Given the description of an element on the screen output the (x, y) to click on. 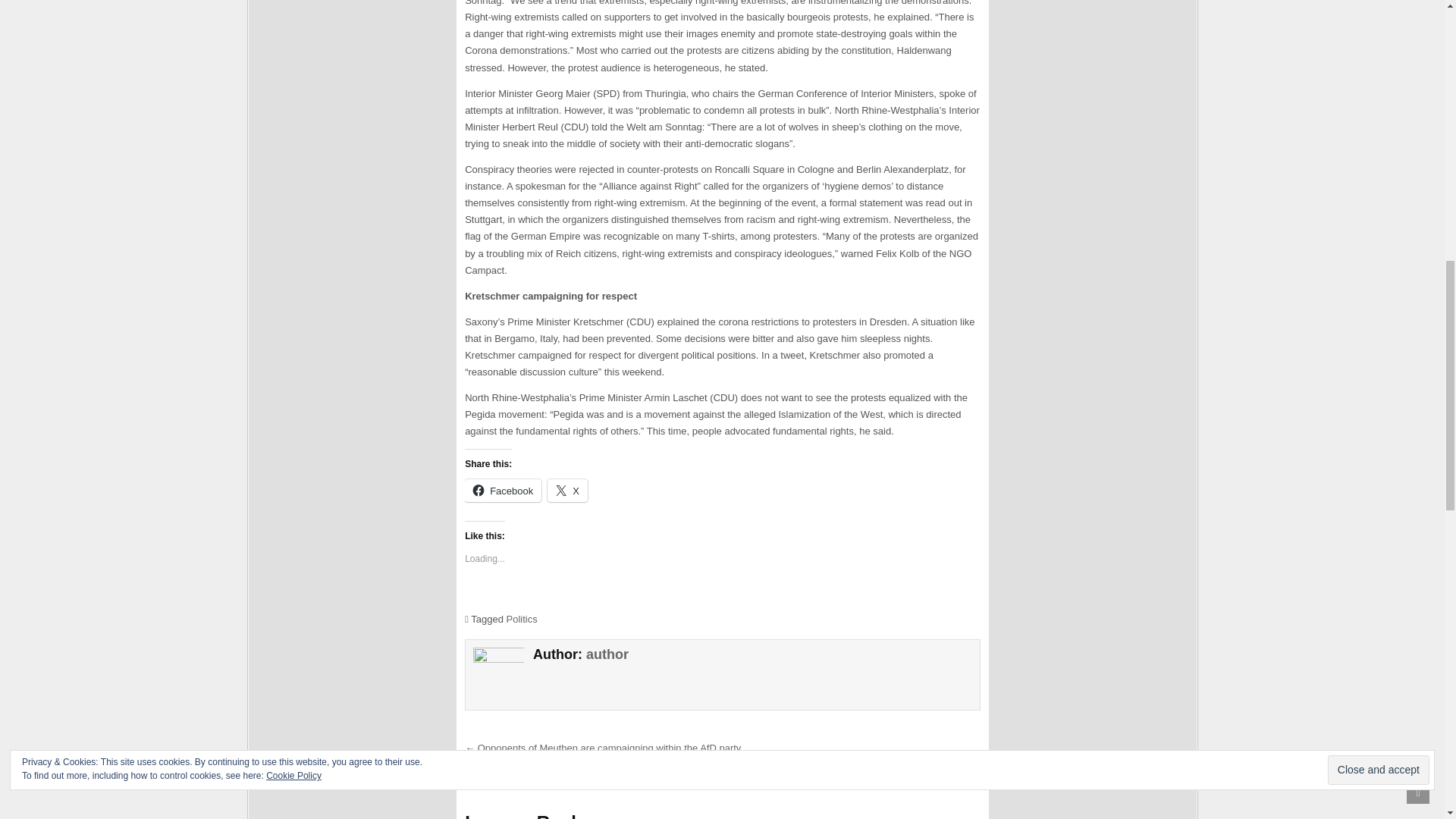
author (607, 654)
X (567, 490)
Facebook (502, 490)
Click to share on X (567, 490)
Click to share on Facebook (502, 490)
Politics (521, 618)
